Given the description of an element on the screen output the (x, y) to click on. 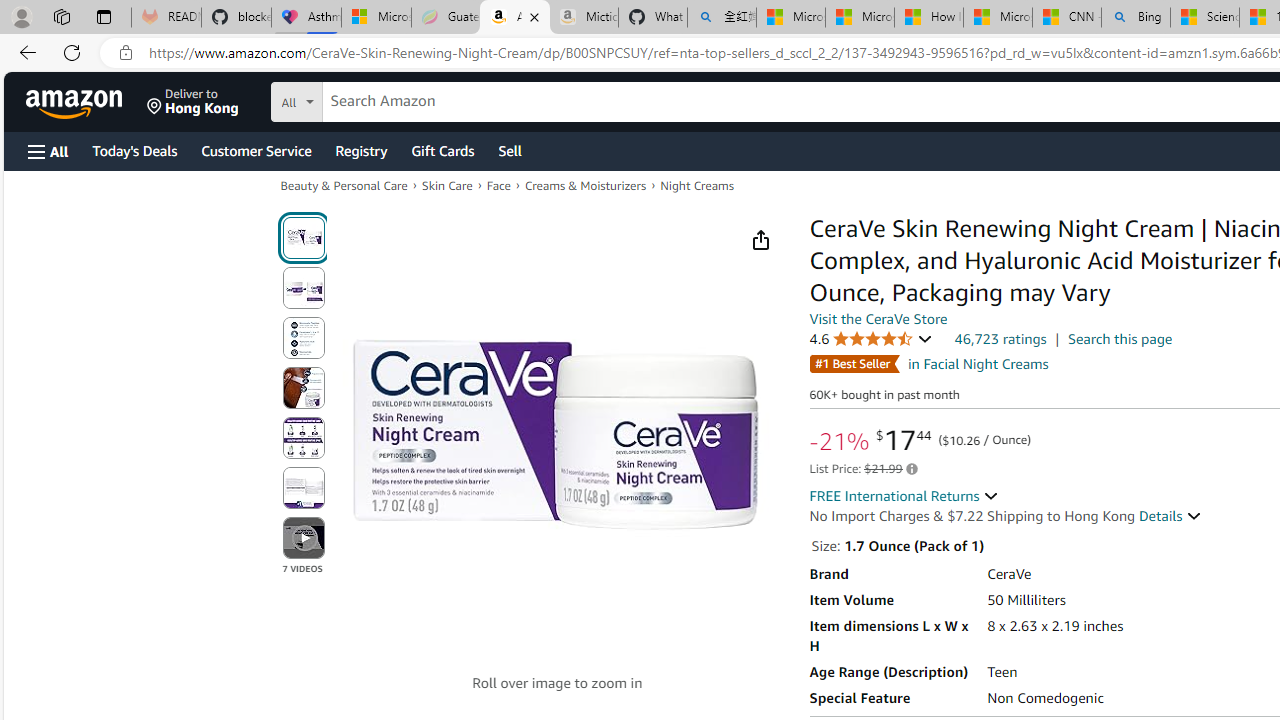
Beauty & Personal Care (344, 185)
Today's Deals (134, 150)
Customer Service (256, 150)
Asthma Inhalers: Names and Types (305, 17)
CNN - MSN (1066, 17)
Skin Care (447, 185)
